Given the description of an element on the screen output the (x, y) to click on. 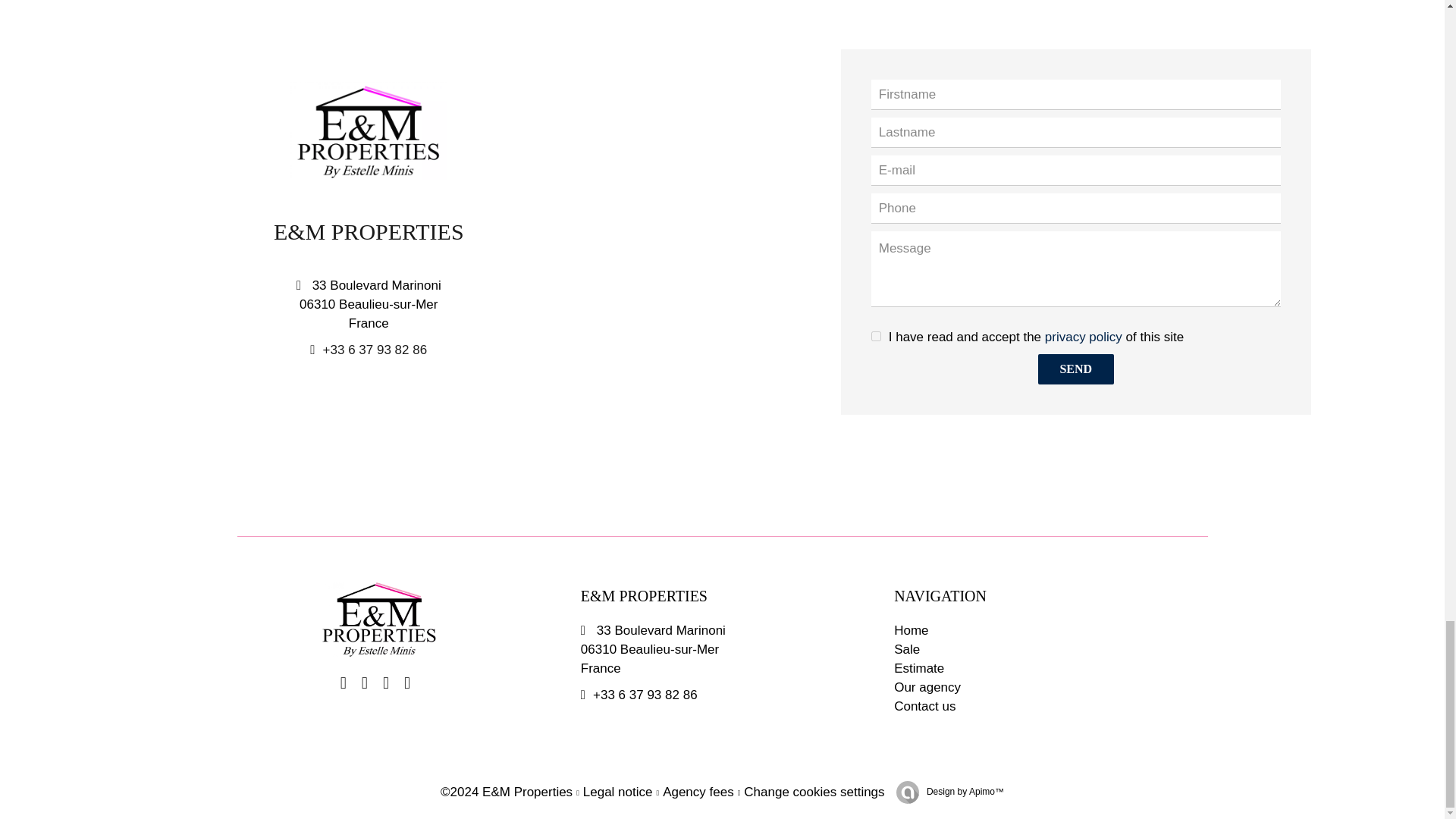
SEND (1075, 368)
on (875, 336)
privacy policy (1083, 336)
